Given the description of an element on the screen output the (x, y) to click on. 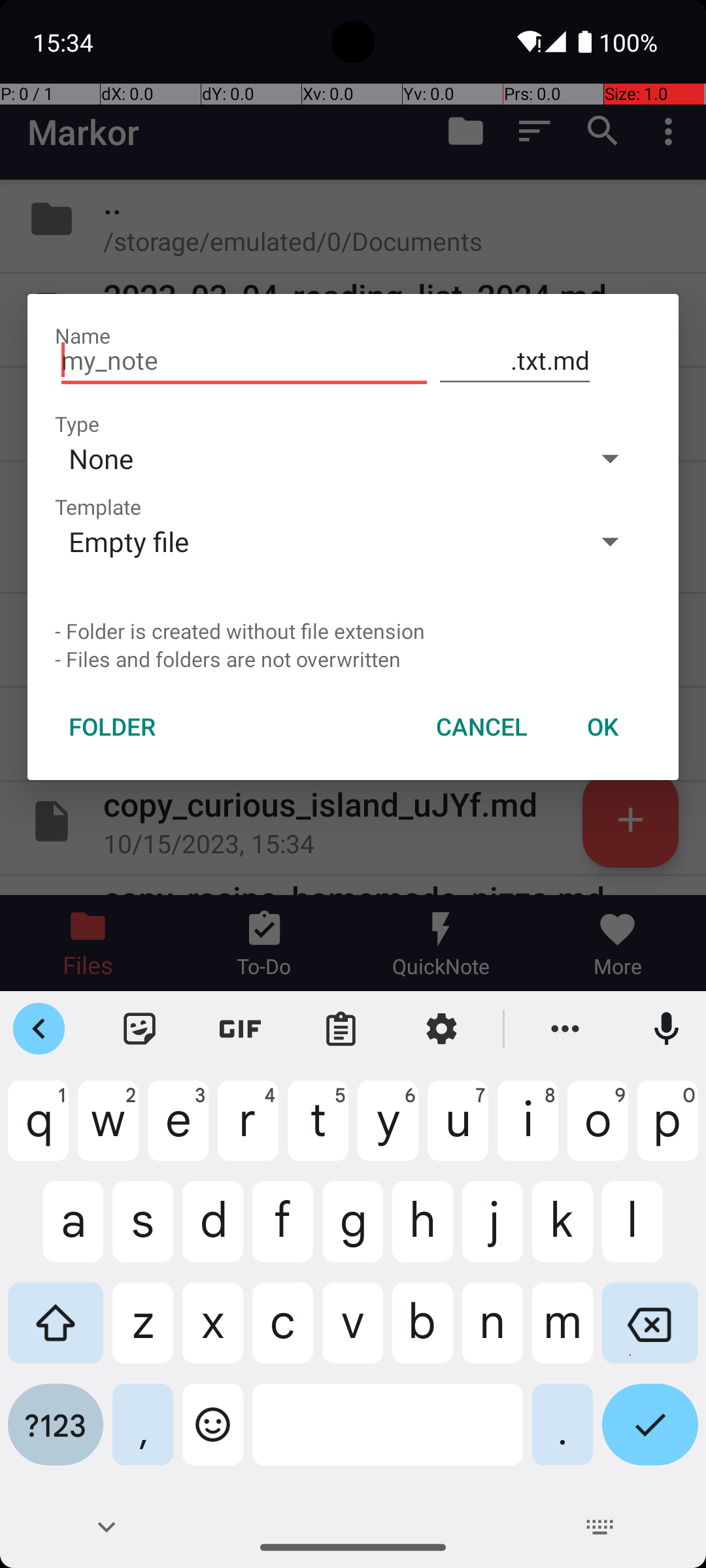
.txt.md Element type: android.widget.EditText (514, 360)
